Given the description of an element on the screen output the (x, y) to click on. 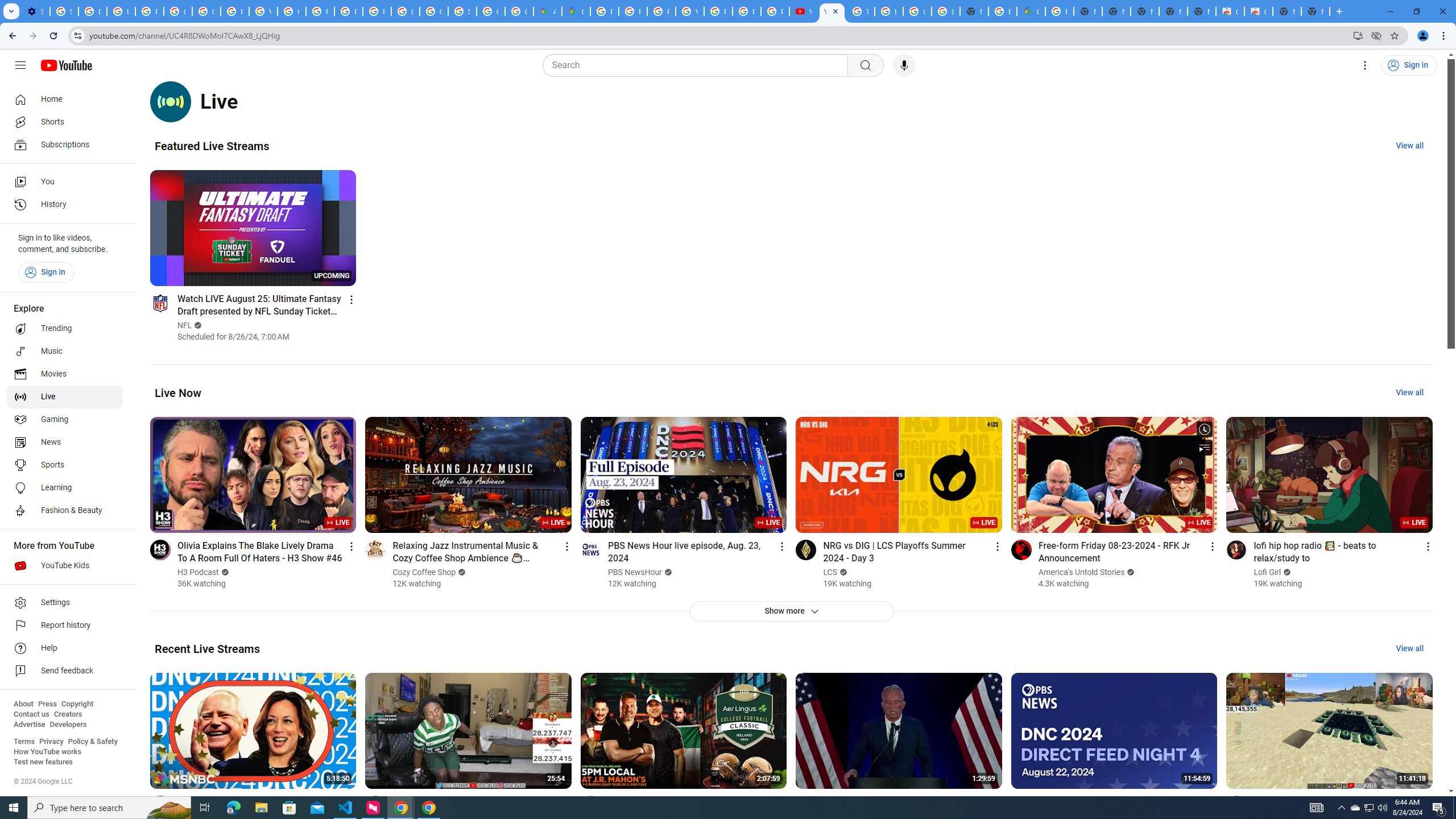
Copyright (77, 703)
Developers (68, 724)
Fashion & Beauty (64, 510)
YouTube (831, 11)
YouTube (263, 11)
View all (1409, 648)
H3 Podcast (198, 572)
Privacy Help Center - Policies Help (661, 11)
Lofi Girl (1267, 572)
New Tab (1315, 11)
Sports (64, 464)
